Given the description of an element on the screen output the (x, y) to click on. 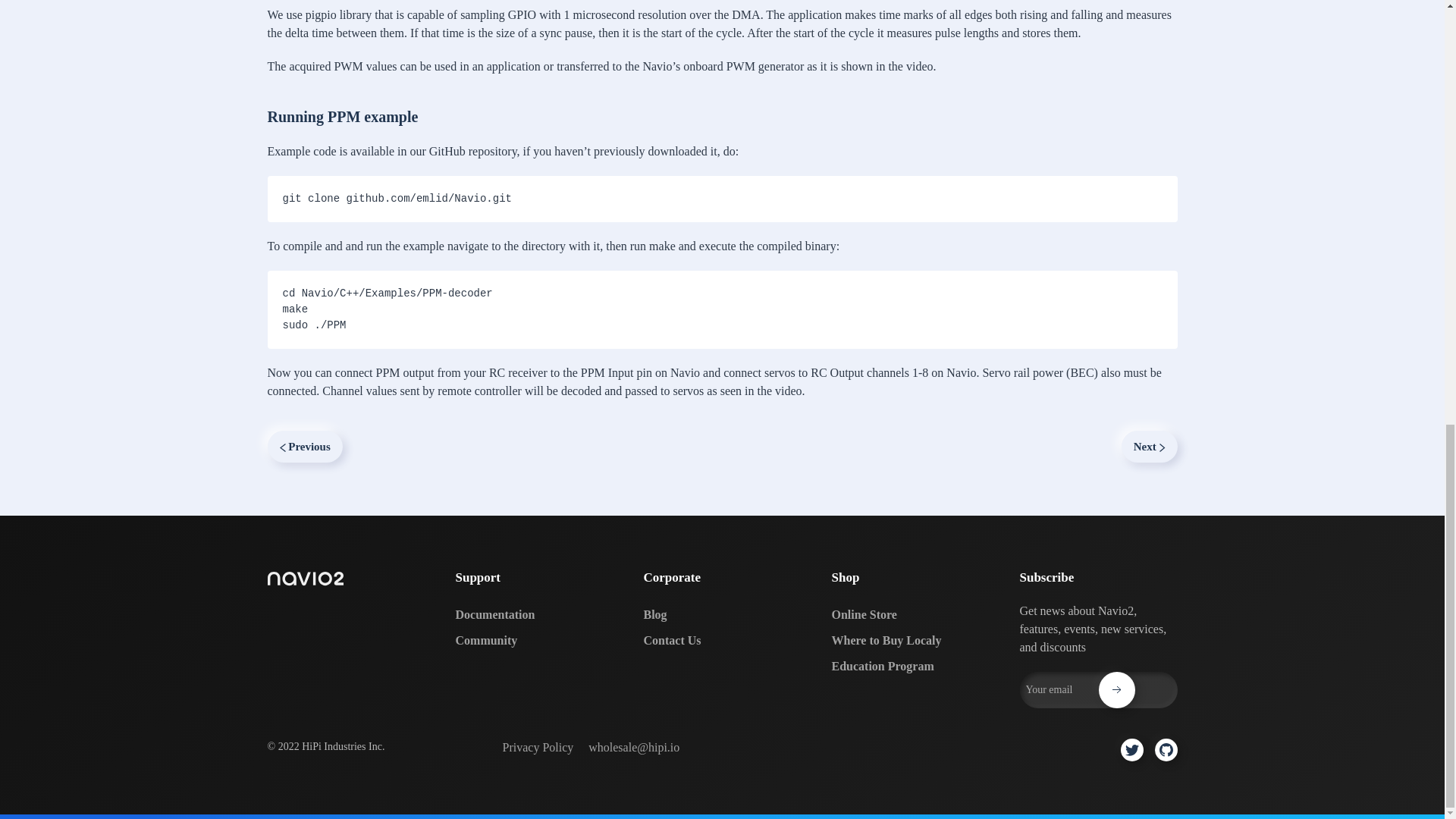
Online Store (909, 614)
Previous (304, 446)
Documentation (533, 614)
Community (533, 640)
Education Program (909, 666)
Next (1149, 446)
Where to Buy Localy (909, 640)
Blog (721, 614)
Contact Us (721, 640)
Privacy Policy (537, 747)
